Given the description of an element on the screen output the (x, y) to click on. 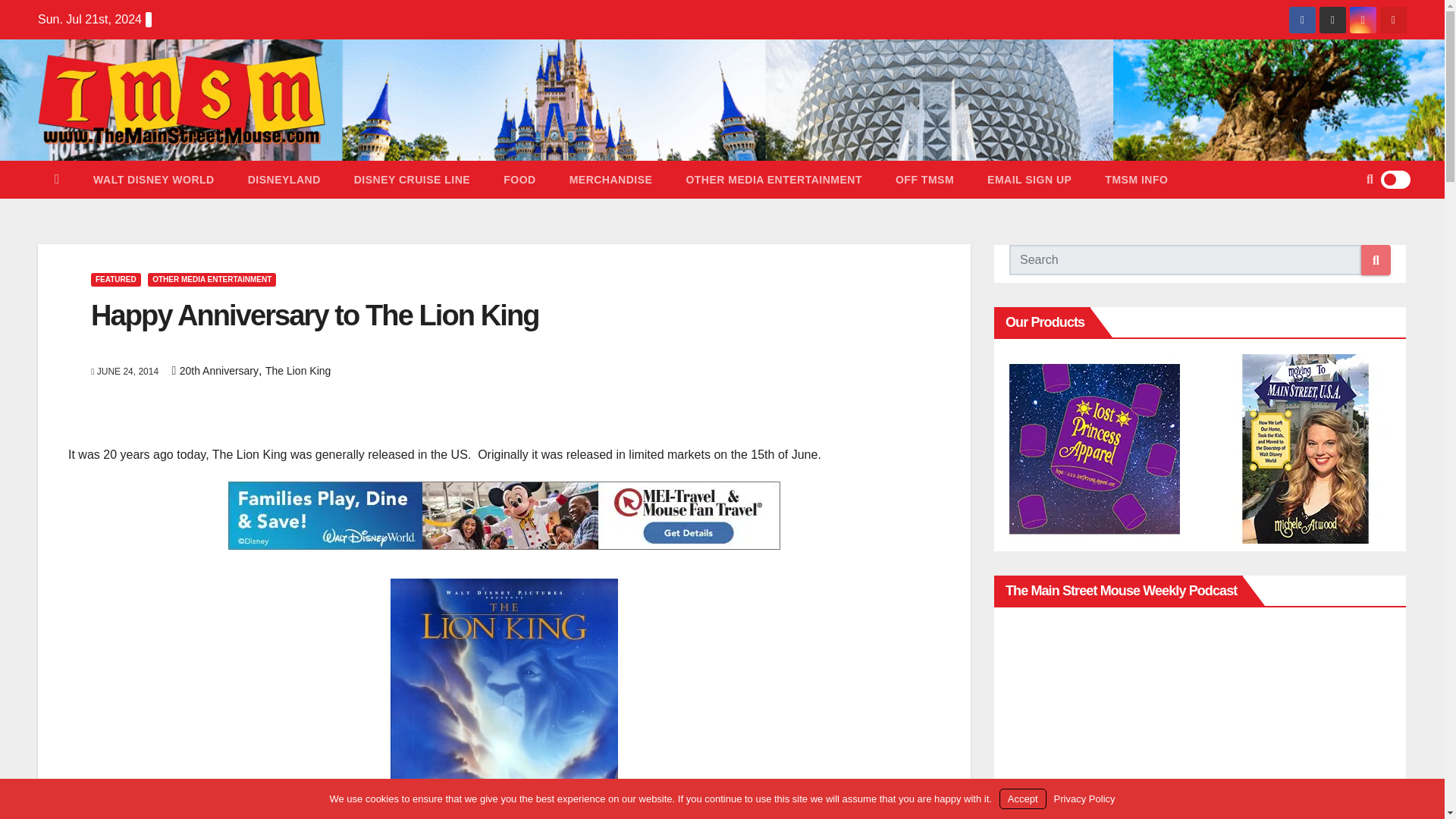
OTHER MEDIA ENTERTAINMENT (773, 179)
DISNEY CRUISE LINE (411, 179)
Walt Disney World (154, 179)
OTHER MEDIA ENTERTAINMENT (212, 279)
MERCHANDISE (611, 179)
Other Media Entertainment (773, 179)
OFF TMSM (925, 179)
TMSM INFO (1136, 179)
Merchandise (611, 179)
20th Anniversary (219, 370)
FOOD (518, 179)
WALT DISNEY WORLD (154, 179)
Disney Cruise Line (411, 179)
Email Sign Up (1029, 179)
Food (518, 179)
